Given the description of an element on the screen output the (x, y) to click on. 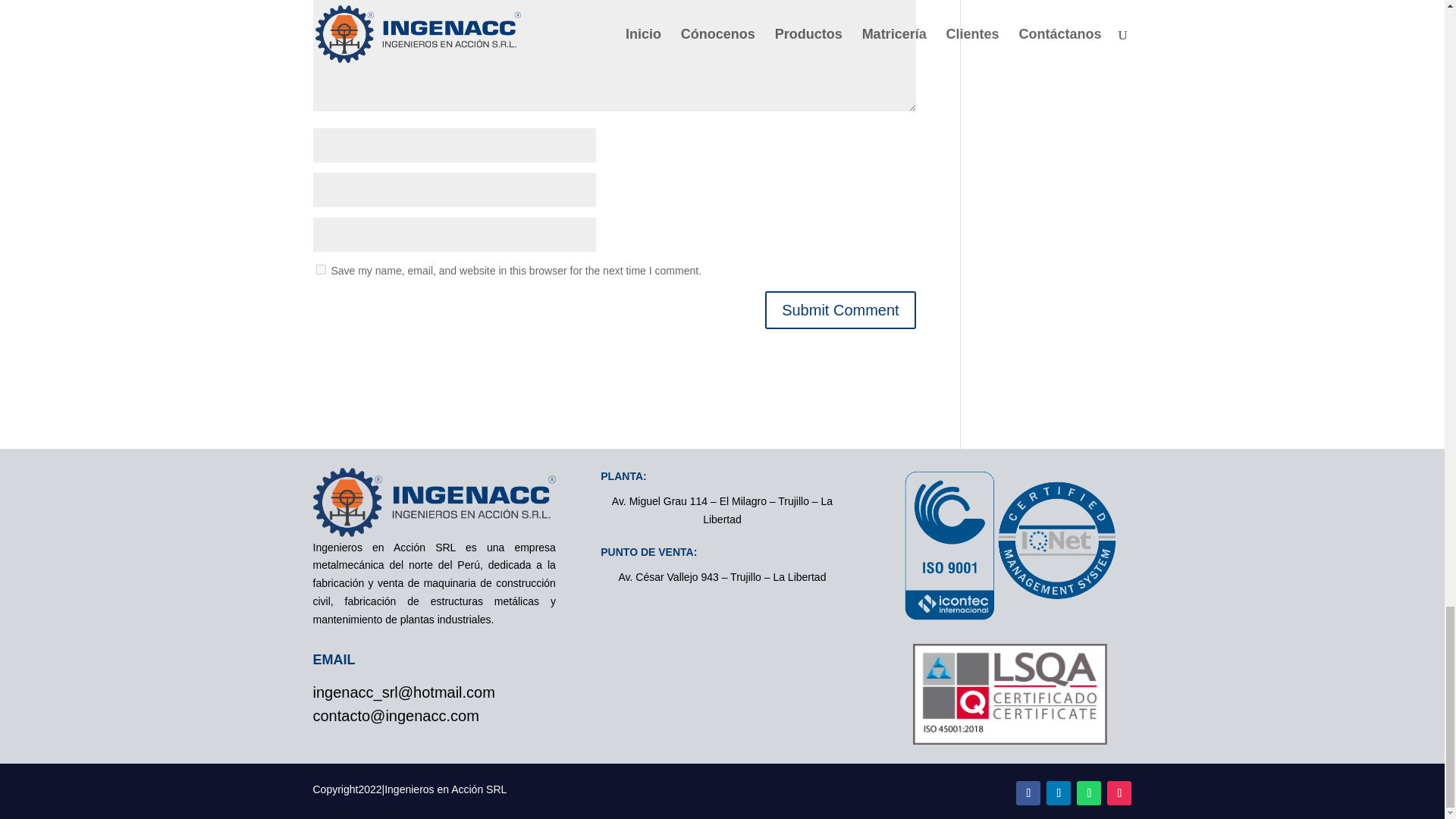
Follow on WhatsApp (1088, 793)
yes (319, 269)
Follow on Facebook (1028, 793)
Submit Comment (840, 310)
Follow on LinkedIn (1058, 793)
iso 450014 (1009, 693)
Submit Comment (840, 310)
ISO9001 4 (1009, 543)
Follow on Instagram (1118, 793)
LOGO (433, 502)
